Given the description of an element on the screen output the (x, y) to click on. 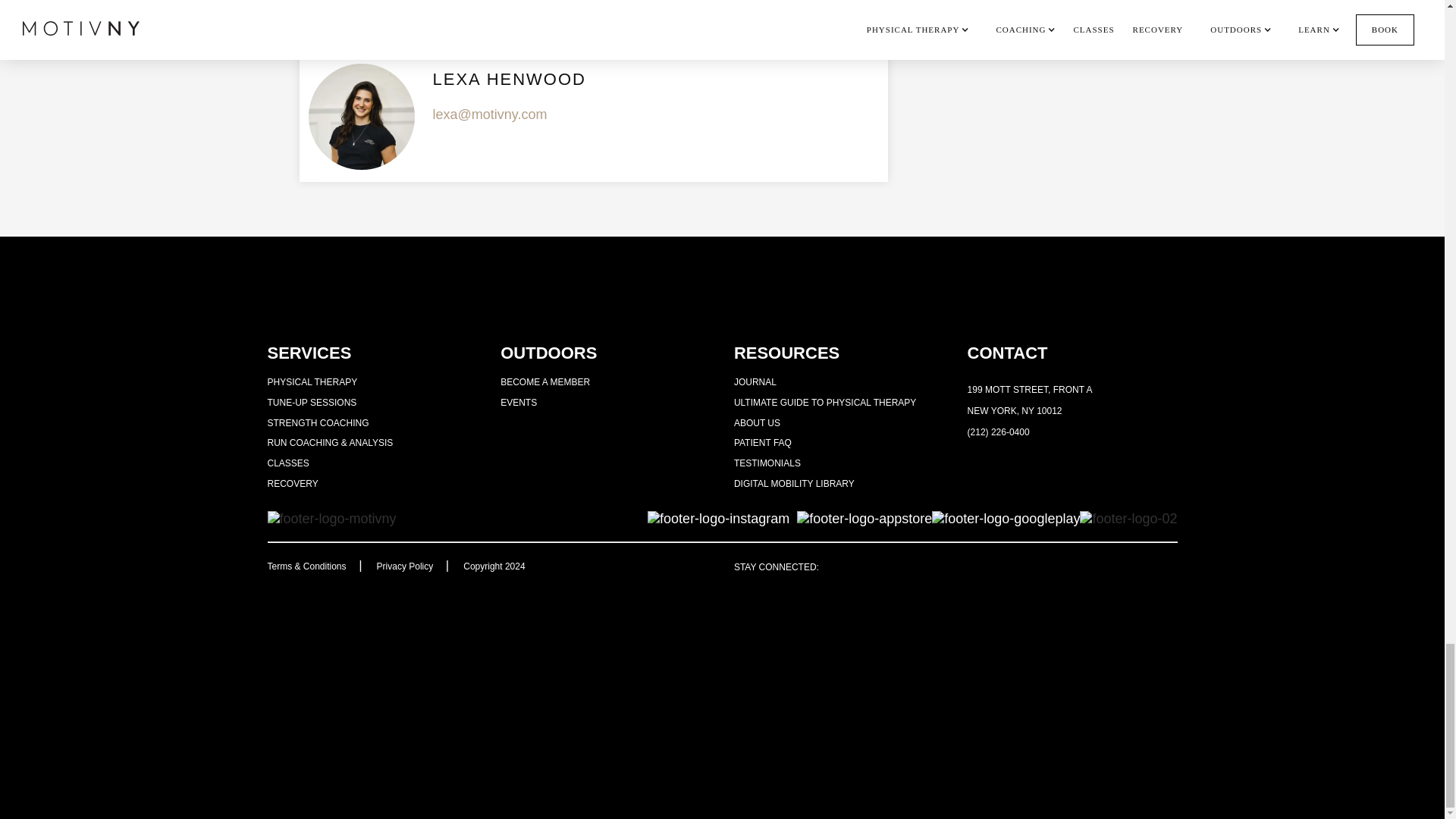
footer-logo-motivny (331, 518)
PHYSICAL THERAPY (311, 381)
footer-logo-appstore (863, 518)
footer-logo-googleplay (1005, 518)
footer-logo-instagram (718, 518)
footer-logo-02 (1128, 518)
TUNE-UP SESSIONS (311, 402)
LEXA HENWOOD (508, 81)
